Given the description of an element on the screen output the (x, y) to click on. 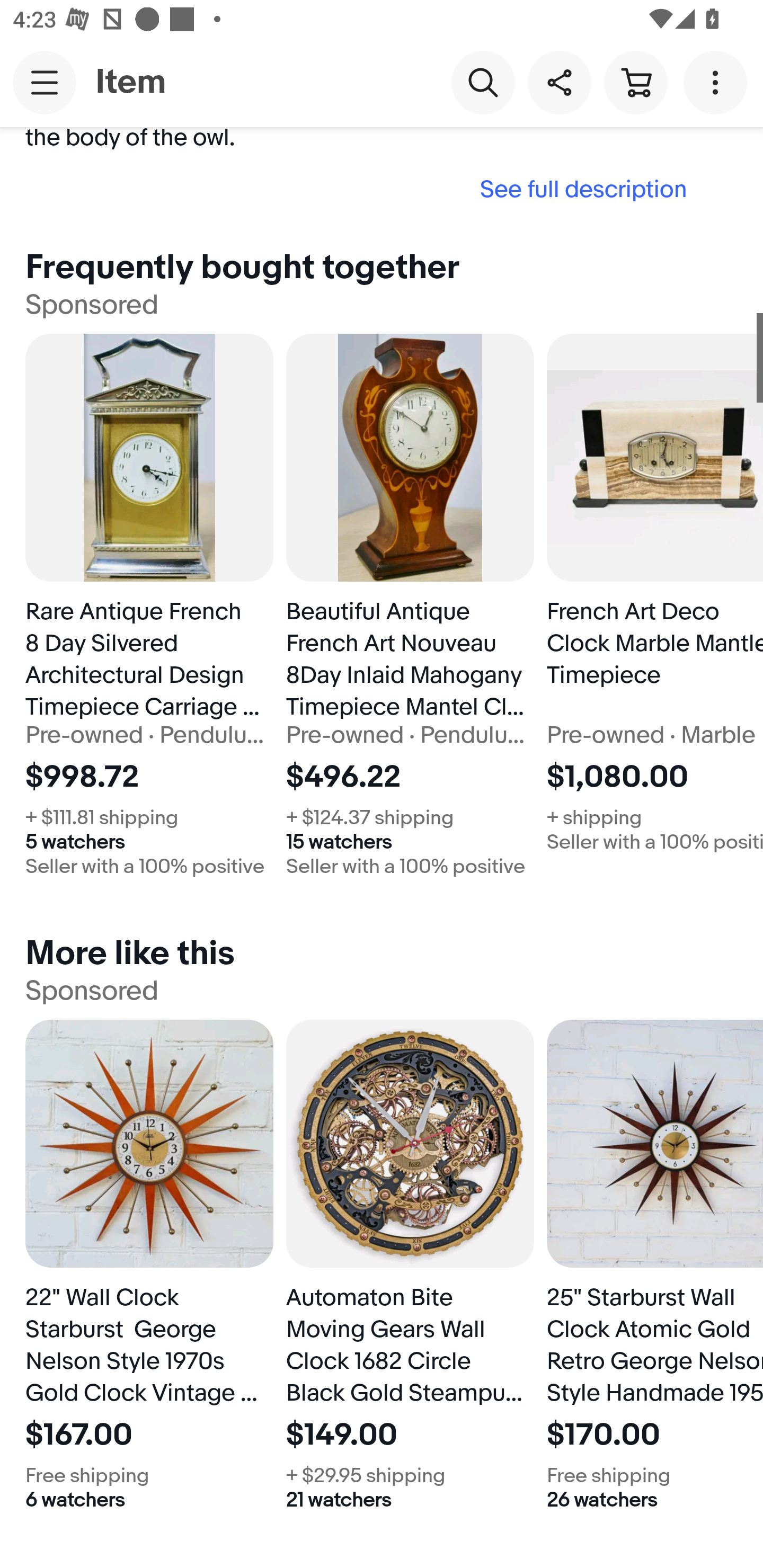
Main navigation, open (44, 82)
Search (482, 81)
Share this item (559, 81)
Cart button shopping cart (635, 81)
More options (718, 81)
See full description (362, 188)
